Given the description of an element on the screen output the (x, y) to click on. 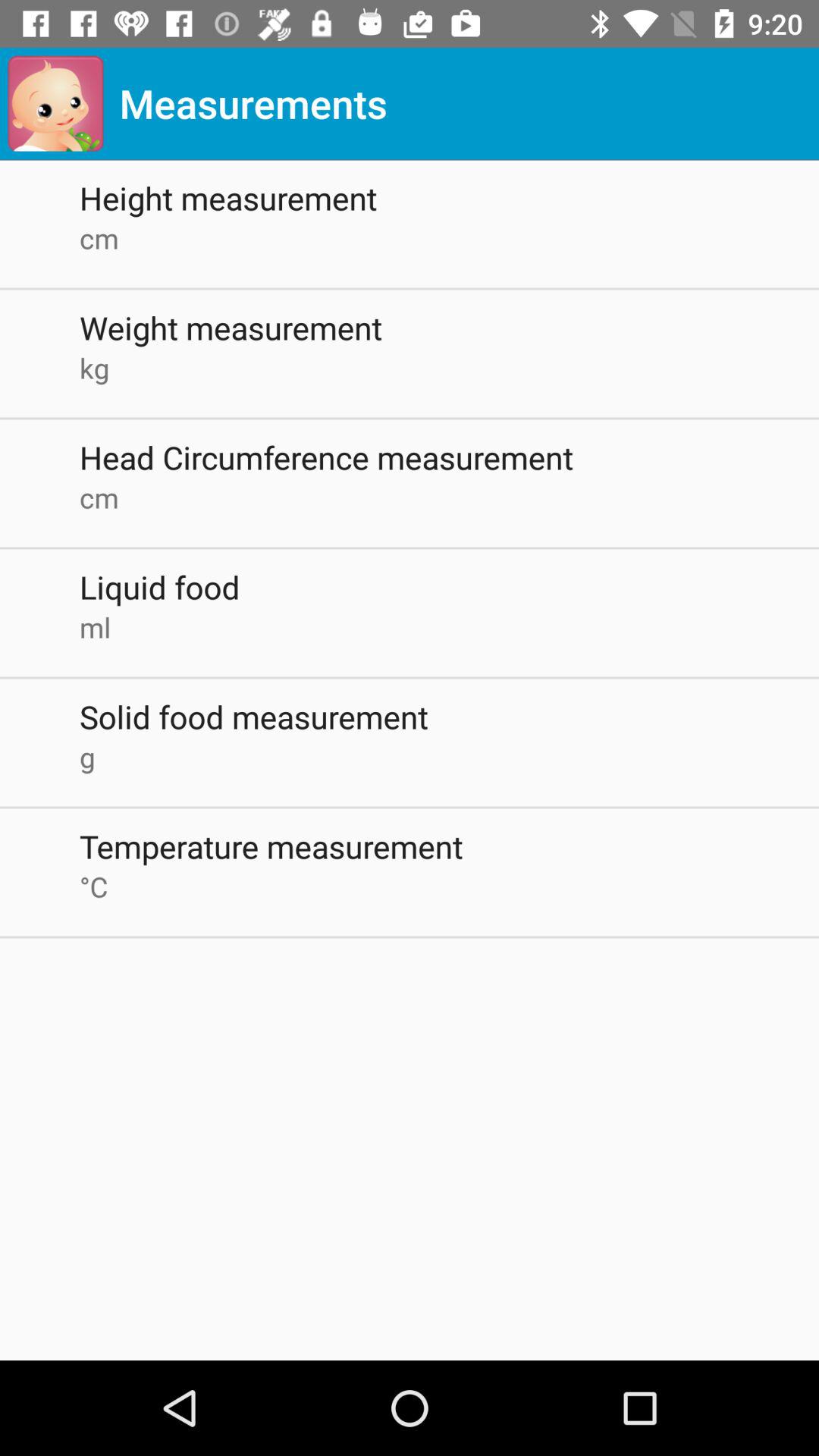
turn off icon above solid food measurement app (449, 627)
